Given the description of an element on the screen output the (x, y) to click on. 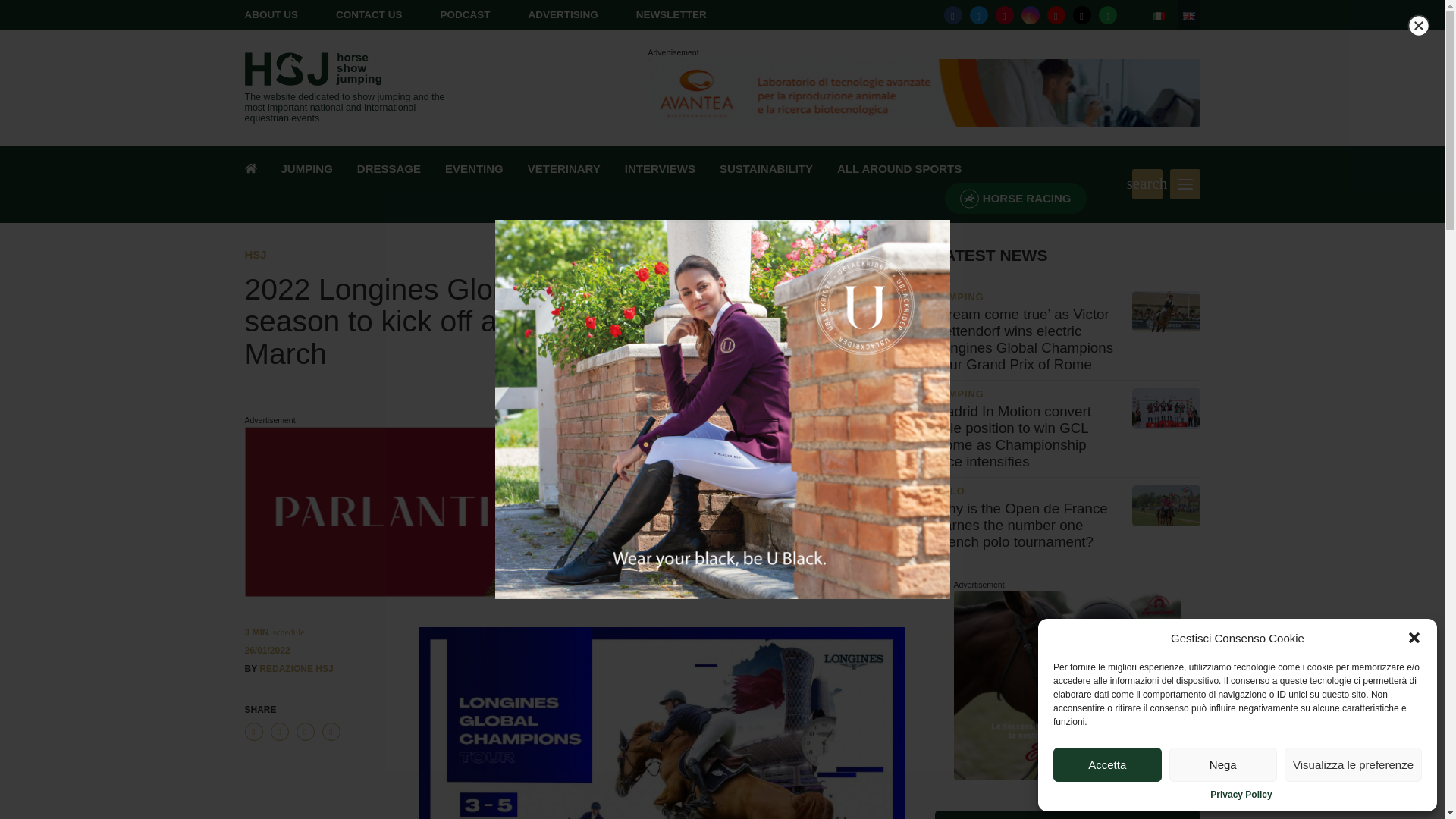
ADVERTISING (563, 14)
Share on Facebook (253, 731)
NEWSLETTER (671, 14)
View all posts by Redazione HSJ (296, 668)
Visualizza le preferenze (1353, 764)
Privacy Policy (1240, 794)
Print (330, 731)
